Given the description of an element on the screen output the (x, y) to click on. 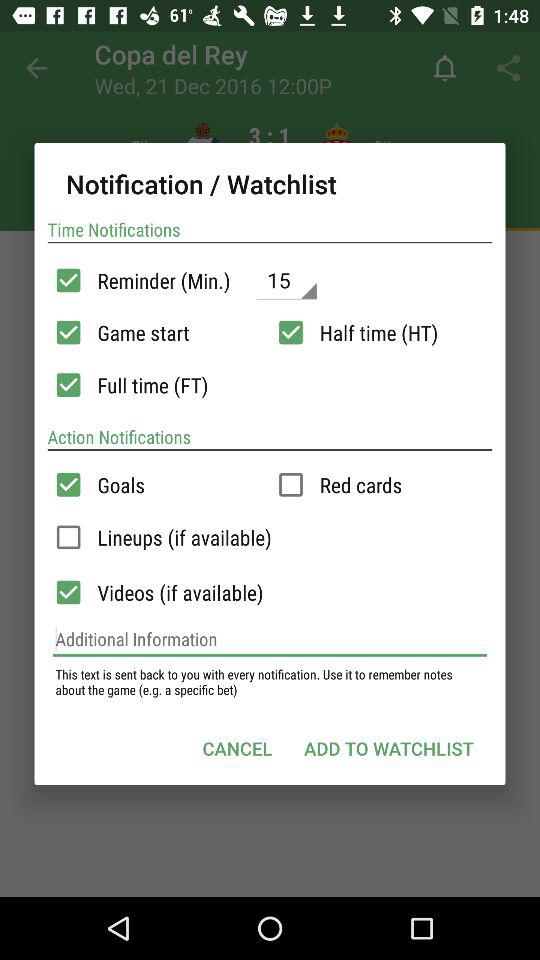
check the box (290, 484)
